Given the description of an element on the screen output the (x, y) to click on. 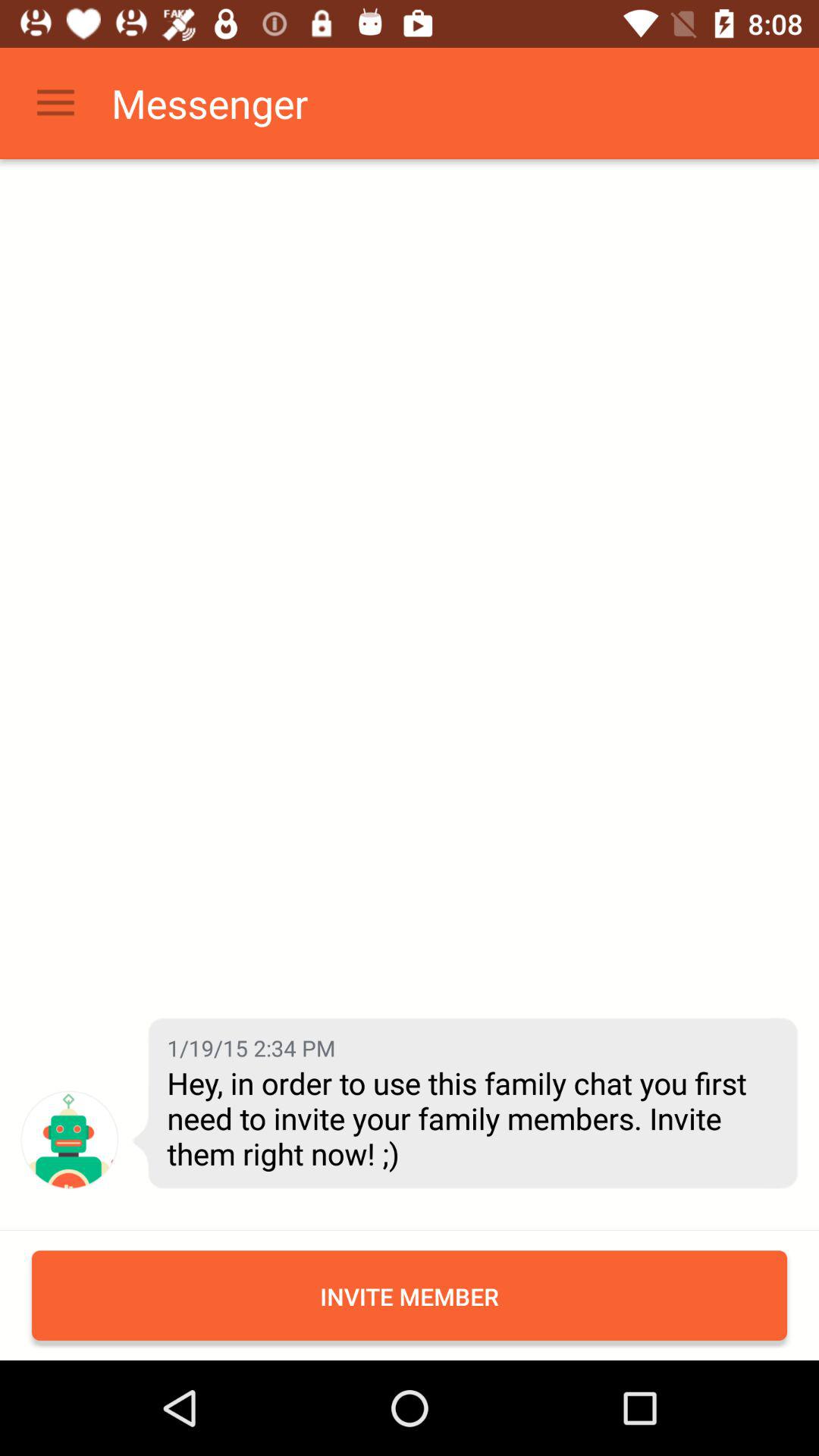
click item next to hey in order item (69, 1139)
